Given the description of an element on the screen output the (x, y) to click on. 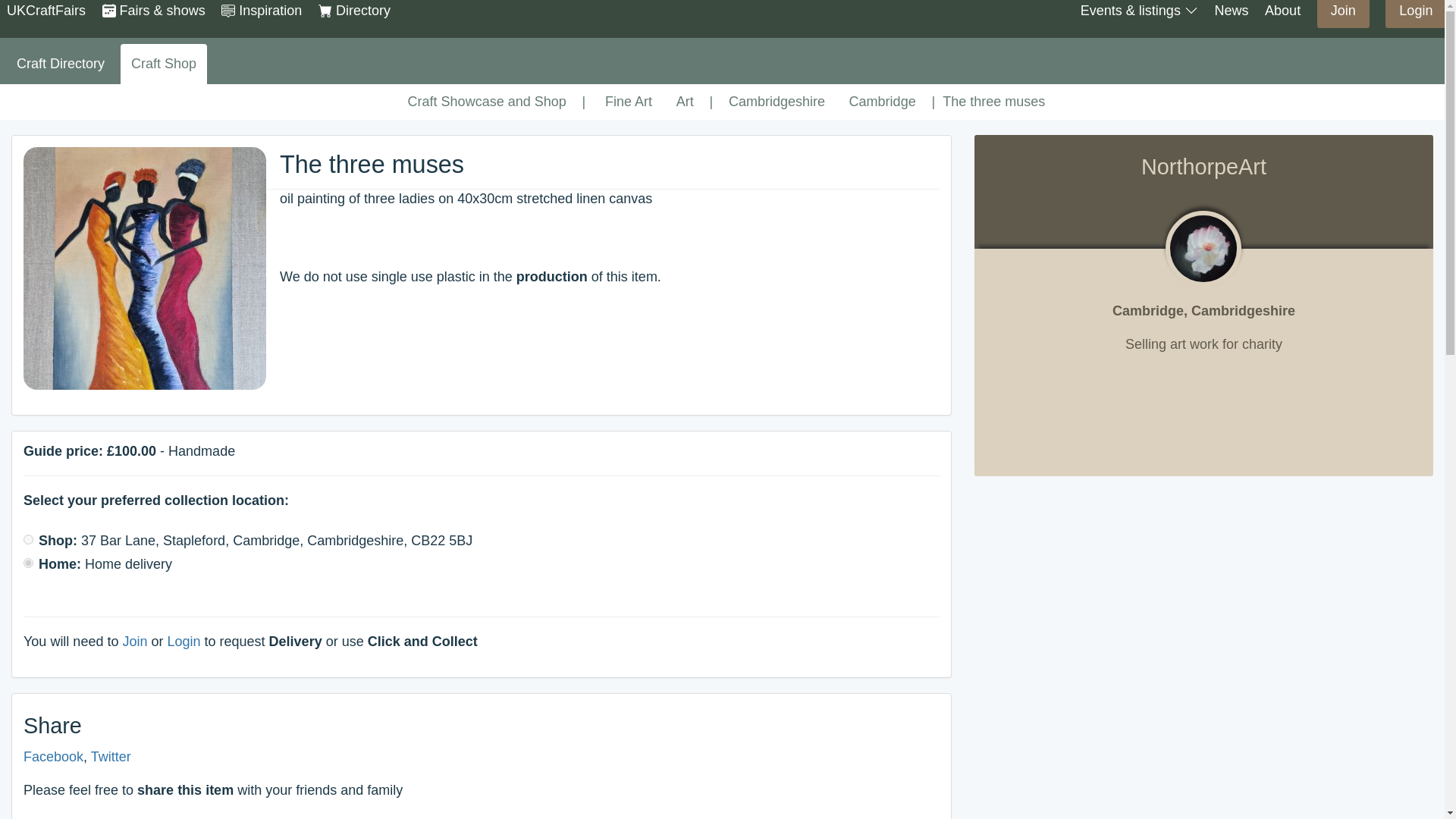
HH10969 (28, 562)
Join (134, 641)
Join (1343, 10)
Join (1343, 13)
Directory (354, 10)
Inspiration (261, 10)
Fairs and shows (153, 10)
Search the craft blogs and gain inspiration (261, 10)
Cambridgeshire (776, 101)
Become a member of UKCraftFairs (1343, 10)
